Given the description of an element on the screen output the (x, y) to click on. 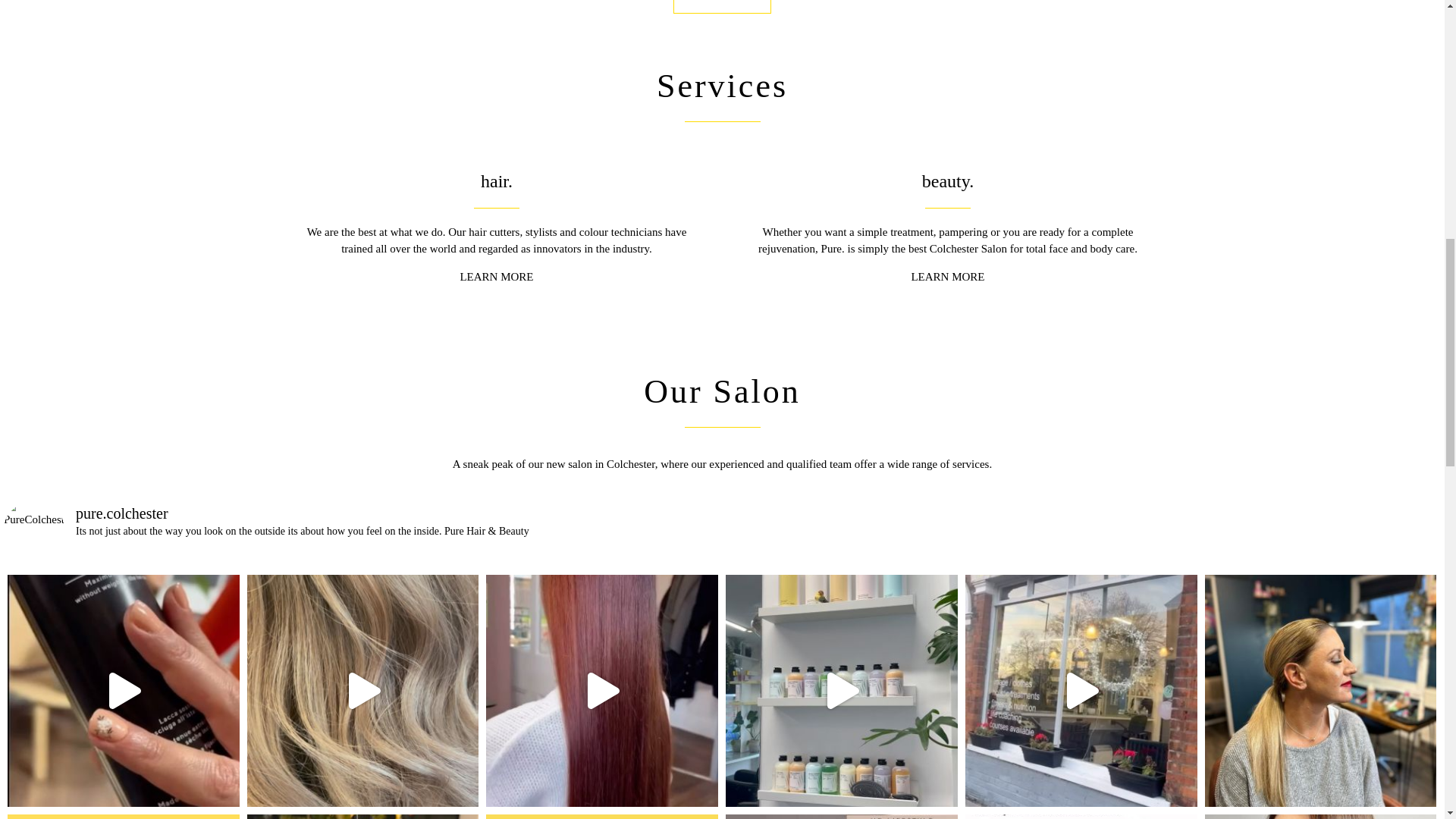
beauty. (947, 180)
hair. (496, 180)
LEARN MORE (496, 276)
beauty. (947, 180)
hair. (496, 180)
BOOK NOW (721, 6)
LEARN MORE (947, 276)
